Given the description of an element on the screen output the (x, y) to click on. 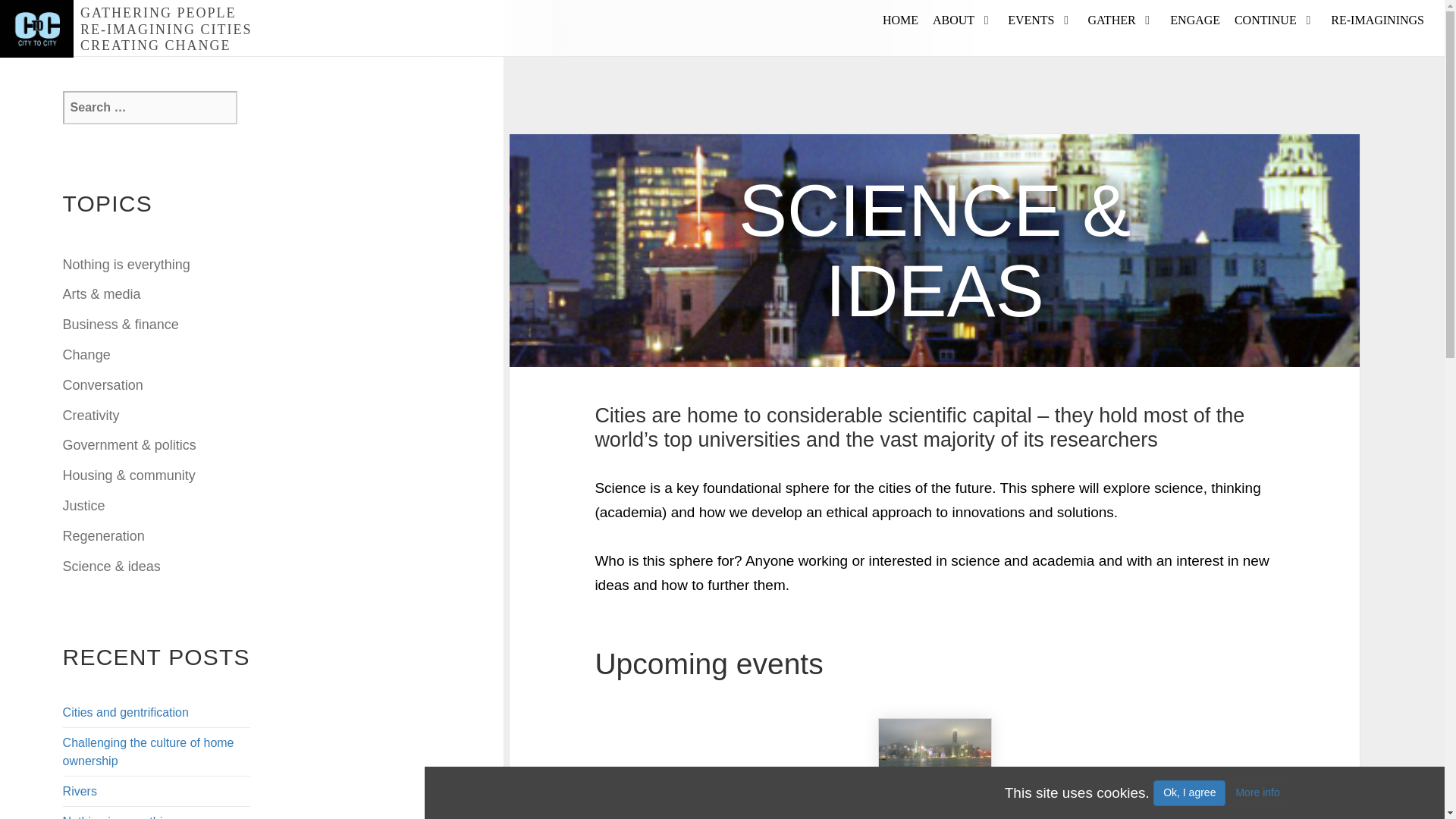
EVENTS (1030, 20)
HOME (900, 20)
ENGAGE (1194, 20)
Search (255, 100)
ABOUT (953, 20)
City To City (37, 28)
CONTINUE (1265, 20)
RE-IMAGININGS (1376, 20)
Search (255, 100)
Search (255, 100)
GATHER (1111, 20)
